Given the description of an element on the screen output the (x, y) to click on. 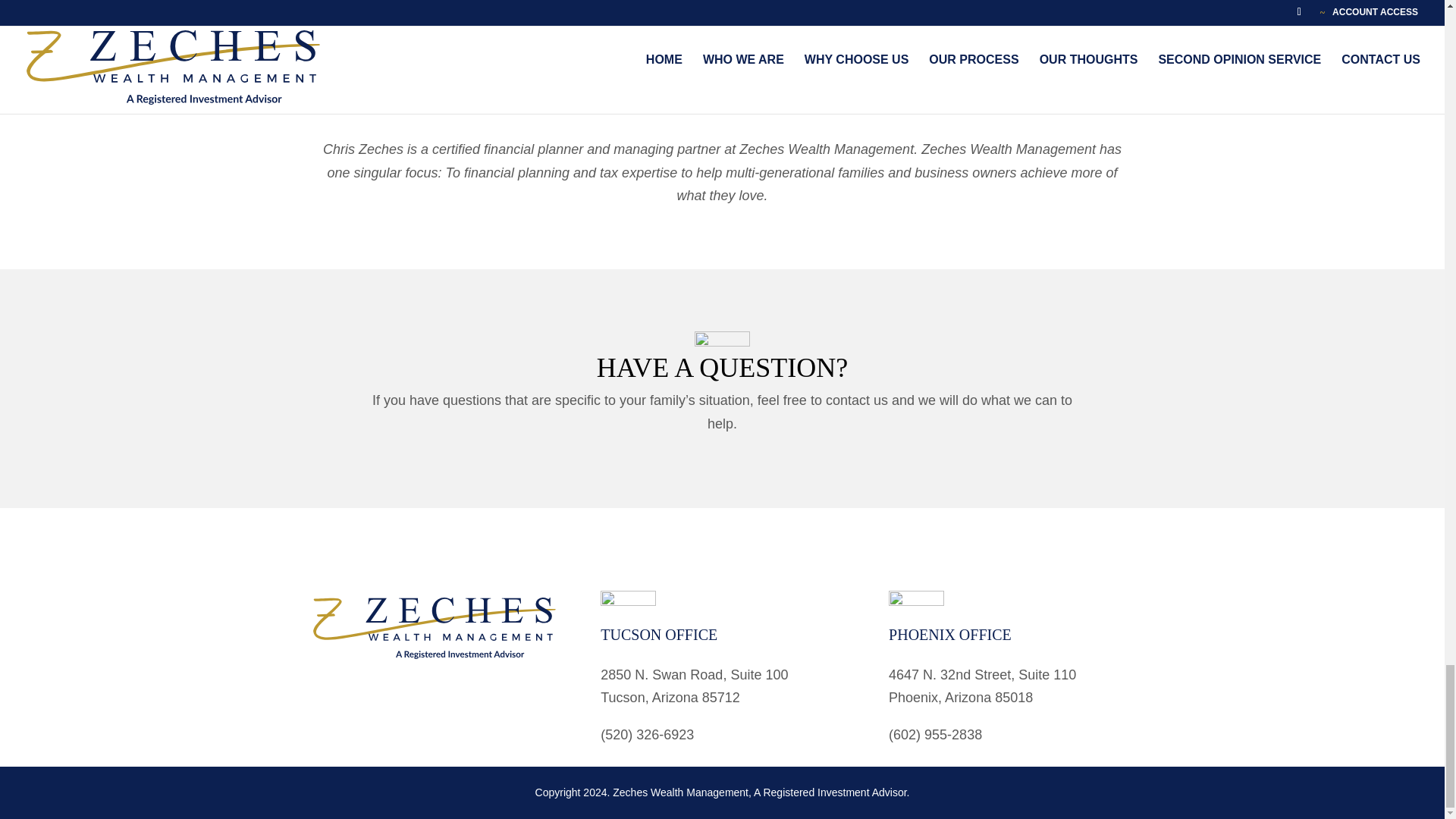
Zeches Logo March 11 2022 (433, 628)
